Given the description of an element on the screen output the (x, y) to click on. 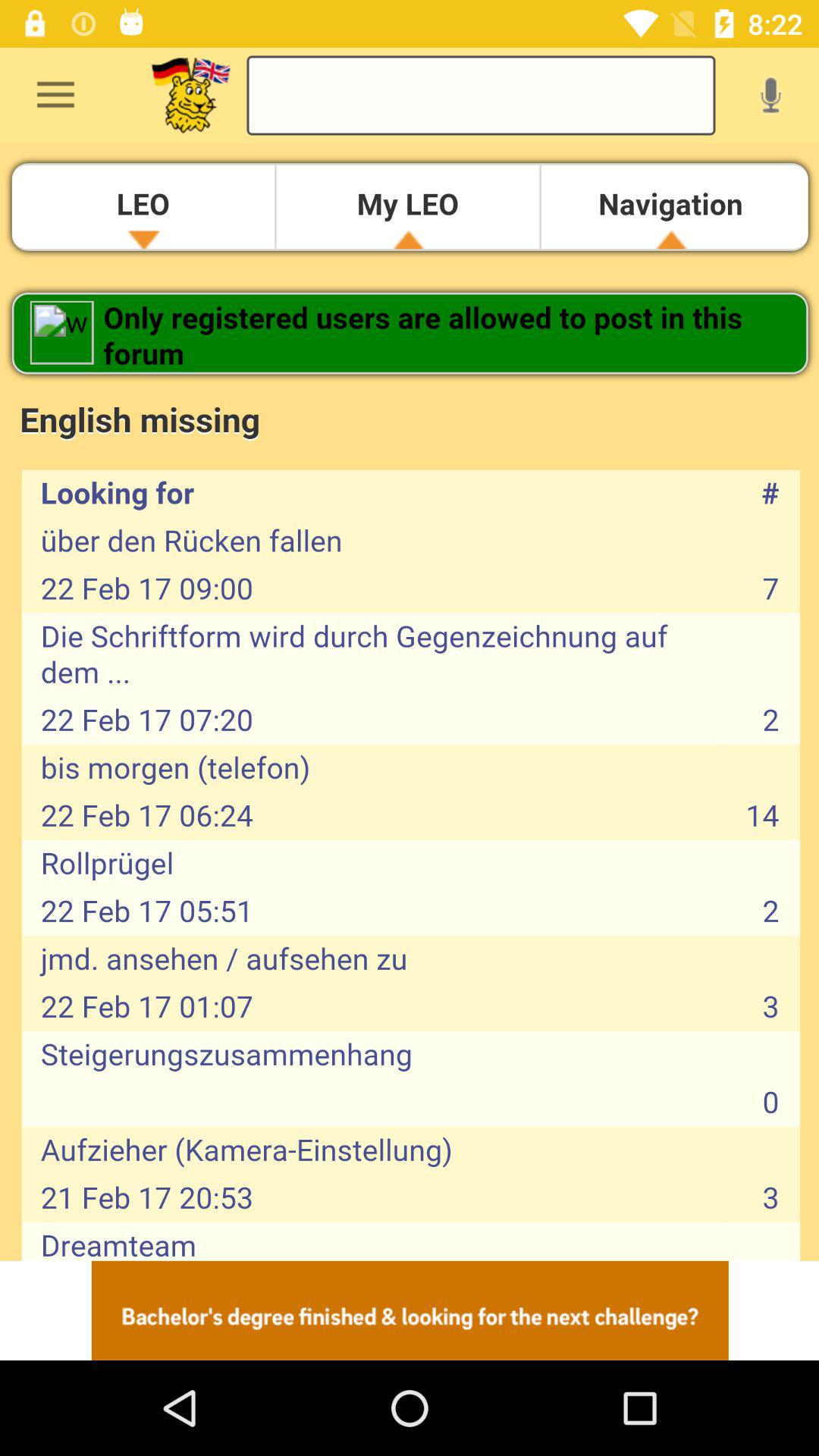
enter keyword (480, 95)
